Given the description of an element on the screen output the (x, y) to click on. 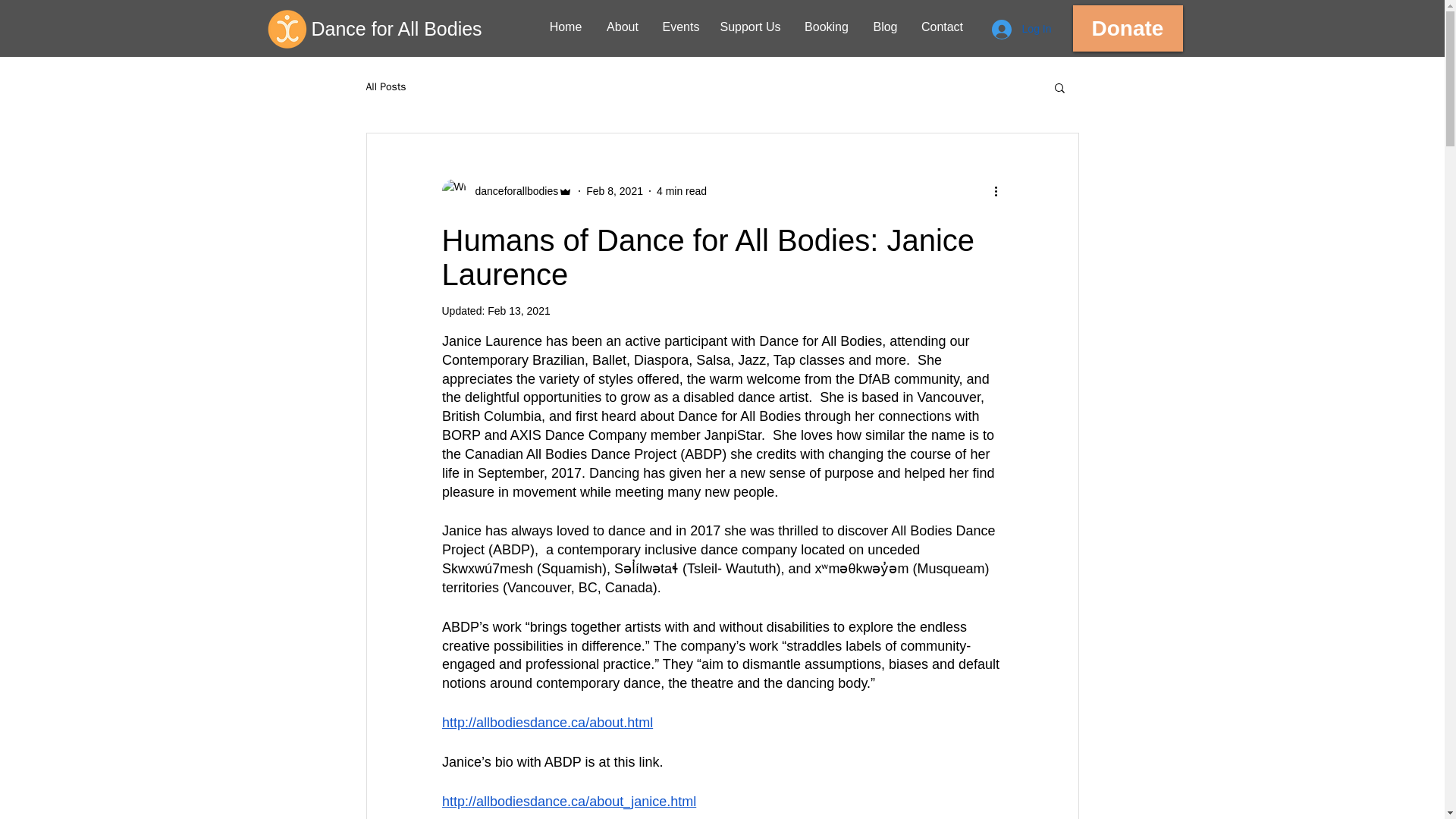
Blog (885, 27)
Log In (1021, 29)
4 min read (681, 191)
Feb 13, 2021 (518, 310)
Dance for All Bodies (428, 29)
danceforallbodies (511, 191)
Donate (1126, 27)
Home (565, 27)
Support Us (749, 27)
Feb 8, 2021 (614, 191)
